Given the description of an element on the screen output the (x, y) to click on. 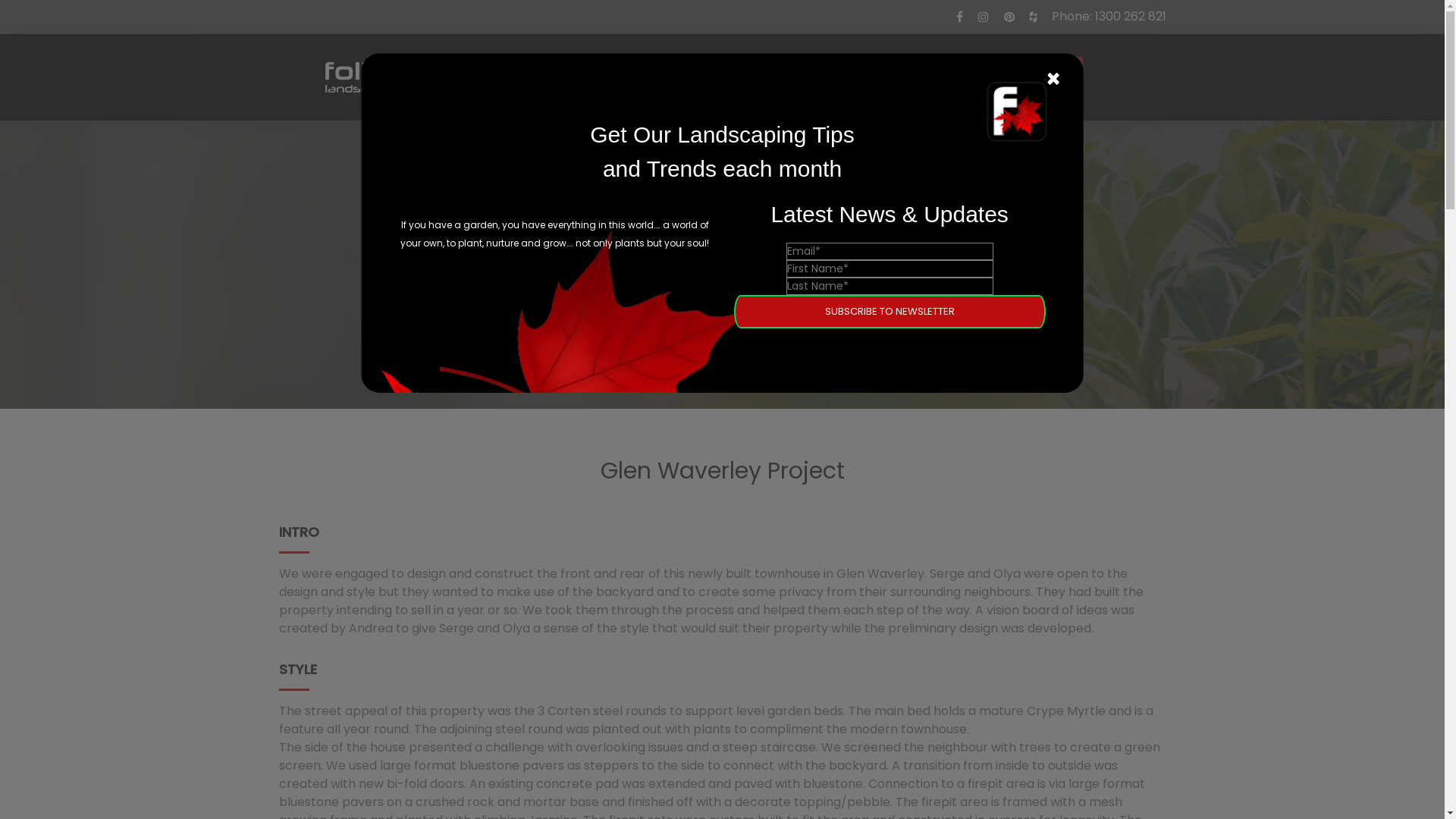
DESIGN SERVICE Element type: text (716, 75)
THE PROCESS Element type: text (522, 75)
Home Element type: text (624, 293)
Subscribe to newsletter Element type: text (889, 311)
PROJECTS Element type: text (615, 75)
Phone: 1300 262 821 Element type: text (1108, 16)
BLOG Element type: text (805, 75)
REQUEST A QUOTE Element type: text (1005, 76)
Projects Element type: text (679, 293)
THIS IS US Element type: text (874, 75)
bestgarden Element type: hover (357, 79)
